Given the description of an element on the screen output the (x, y) to click on. 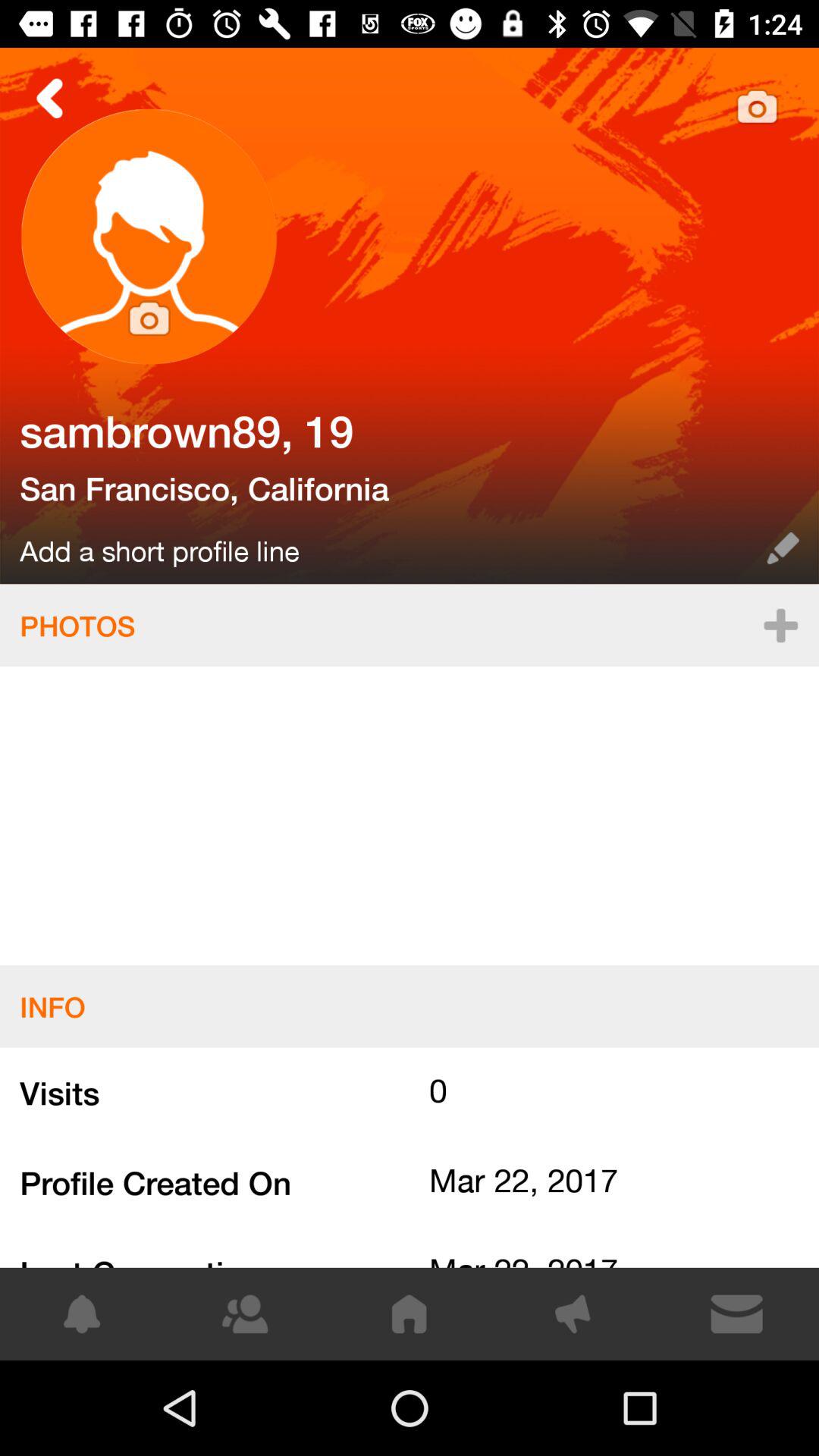
person (409, 315)
